Given the description of an element on the screen output the (x, y) to click on. 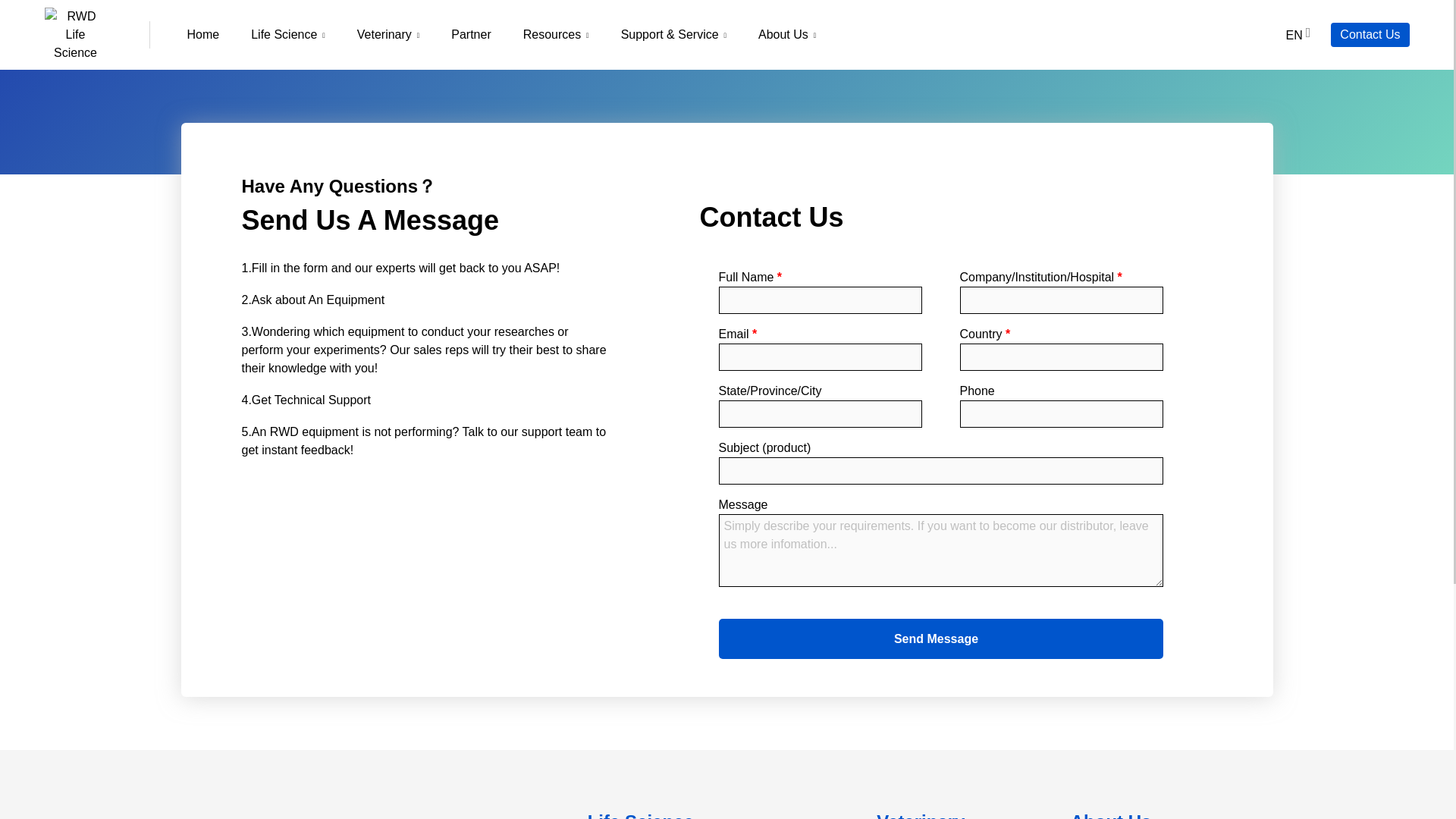
Life Science (287, 34)
Home (203, 34)
Resources (555, 34)
Contact Us (1369, 33)
Veterinary (387, 34)
About Us (786, 34)
Life Science (641, 815)
Send Message (941, 639)
Partner (470, 34)
